Given the description of an element on the screen output the (x, y) to click on. 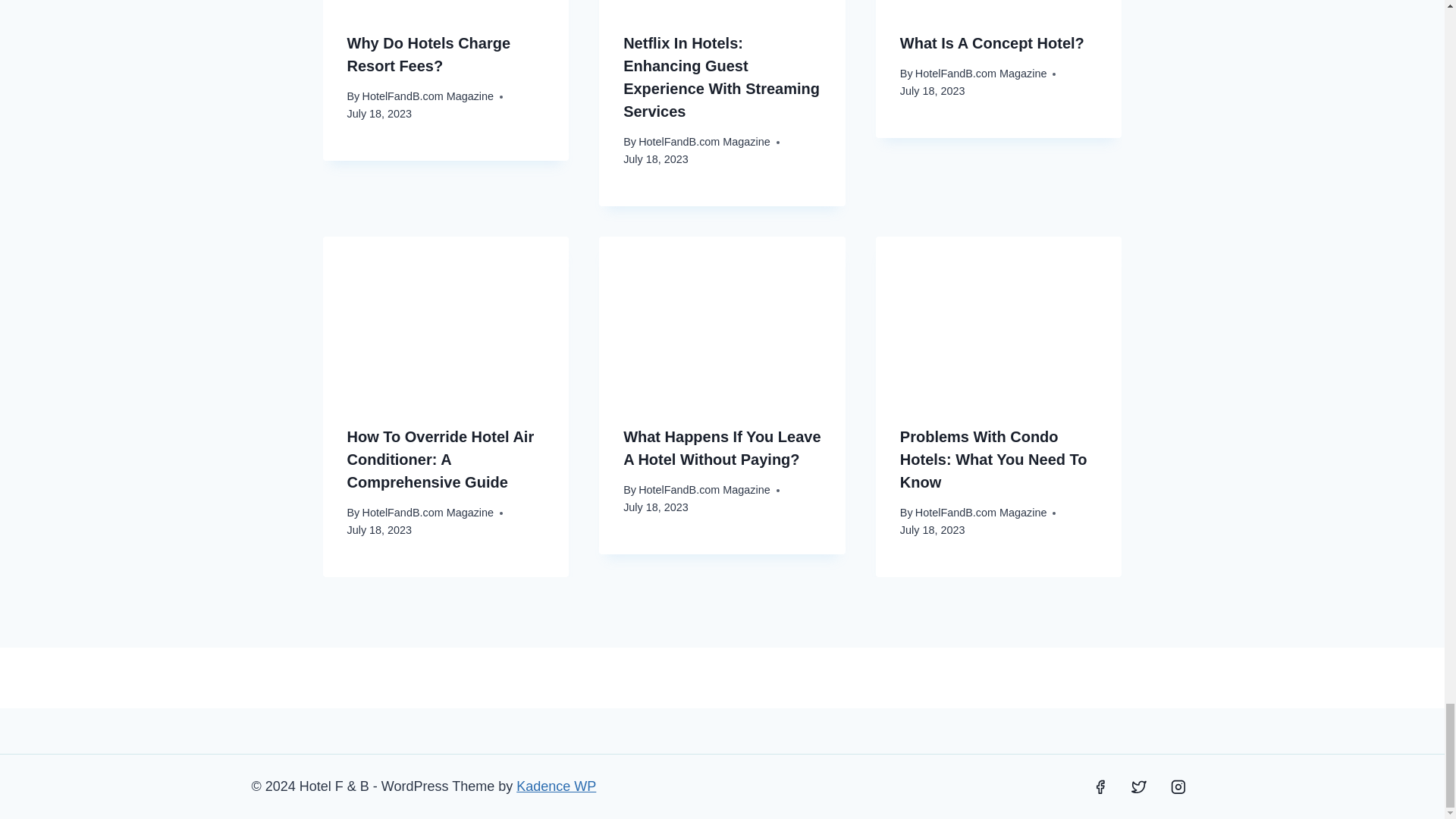
Why Do Hotels Charge Resort Fees? (429, 54)
What Is A Concept Hotel? (991, 43)
How To Override Hotel Air Conditioner: A Comprehensive Guide (440, 459)
HotelFandB.com Magazine (427, 96)
HotelFandB.com Magazine (704, 141)
HotelFandB.com Magazine (427, 512)
HotelFandB.com Magazine (980, 73)
HotelFandB.com Magazine (704, 490)
What Happens If You Leave A Hotel Without Paying? (722, 447)
